Given the description of an element on the screen output the (x, y) to click on. 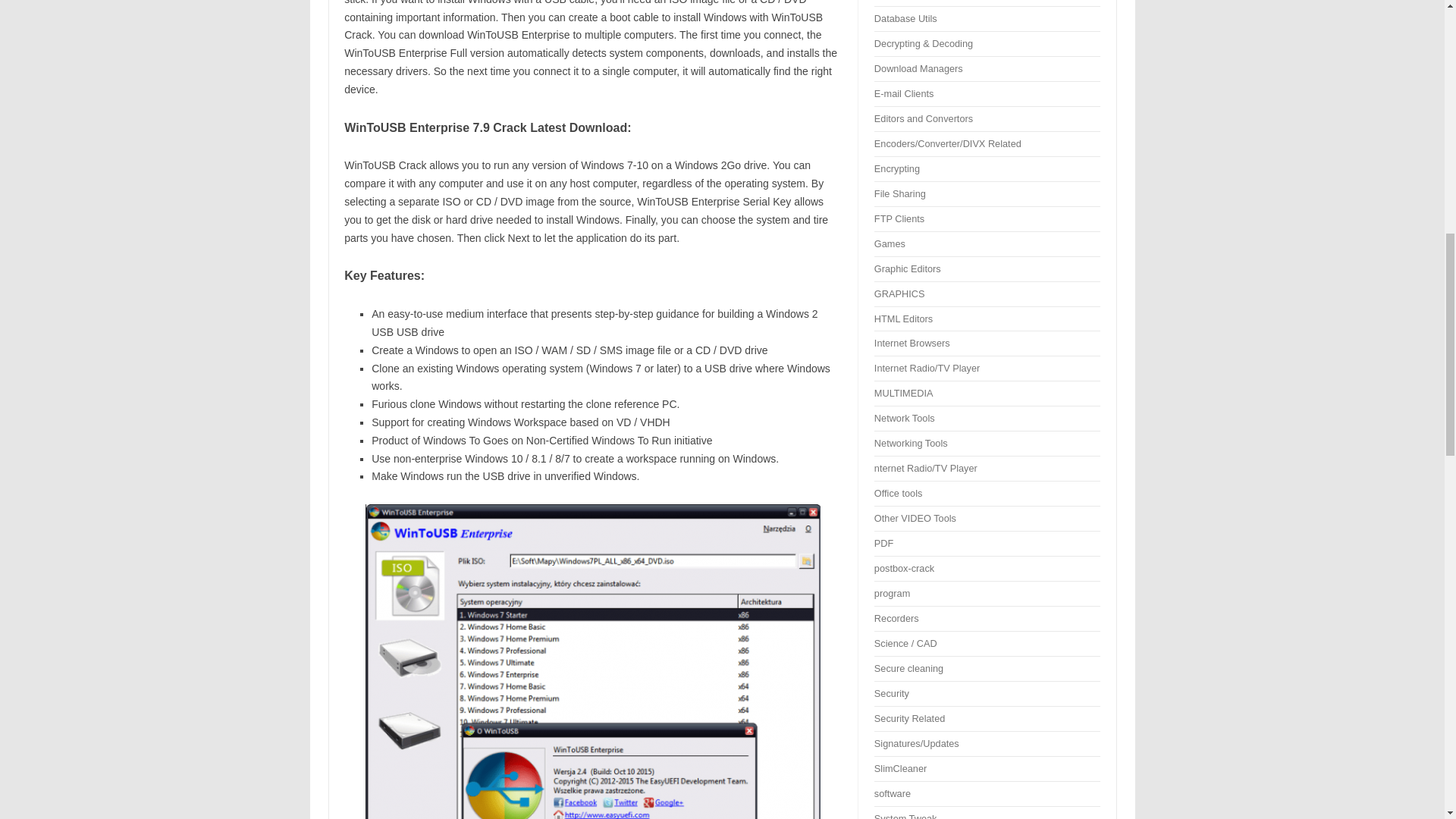
Database Utils (906, 18)
